Given the description of an element on the screen output the (x, y) to click on. 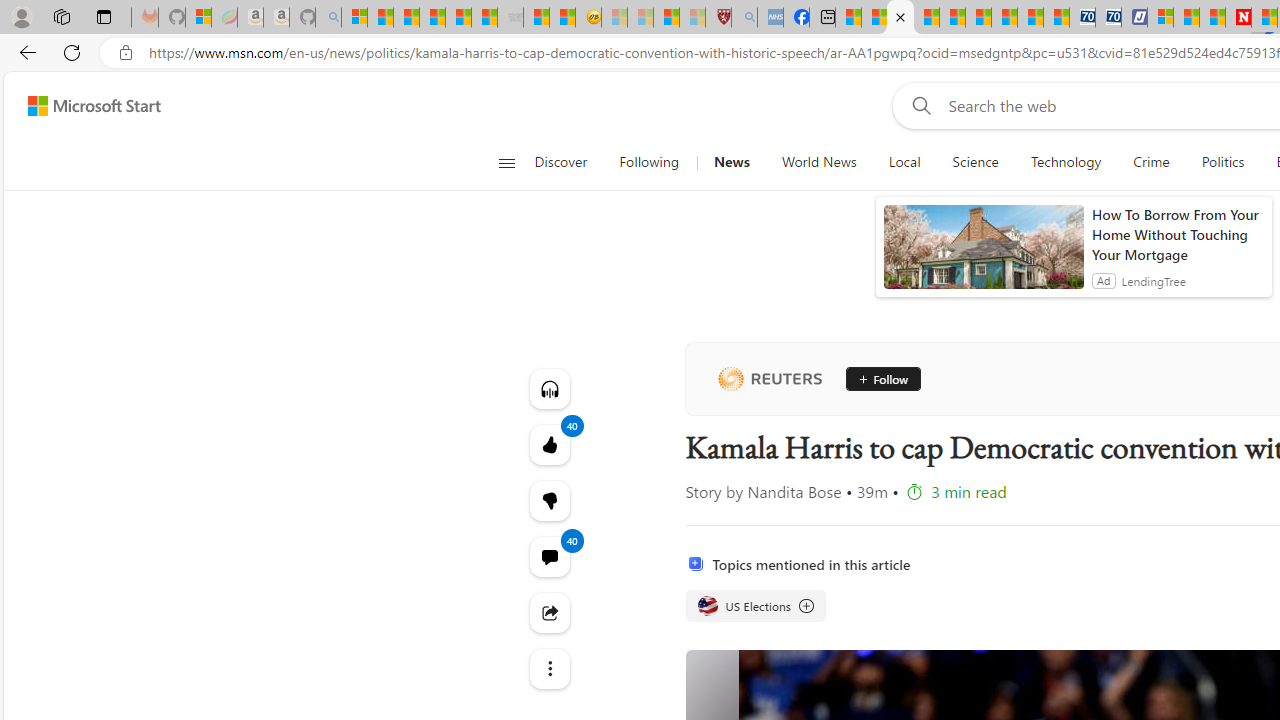
New Report Confirms 2023 Was Record Hot | Watch (458, 17)
LendingTree (1153, 280)
Local (903, 162)
Newsweek - News, Analysis, Politics, Business, Technology (1238, 17)
View comments 40 Comment (548, 556)
Robert H. Shmerling, MD - Harvard Health (718, 17)
The Weather Channel - MSN (406, 17)
